Given the description of an element on the screen output the (x, y) to click on. 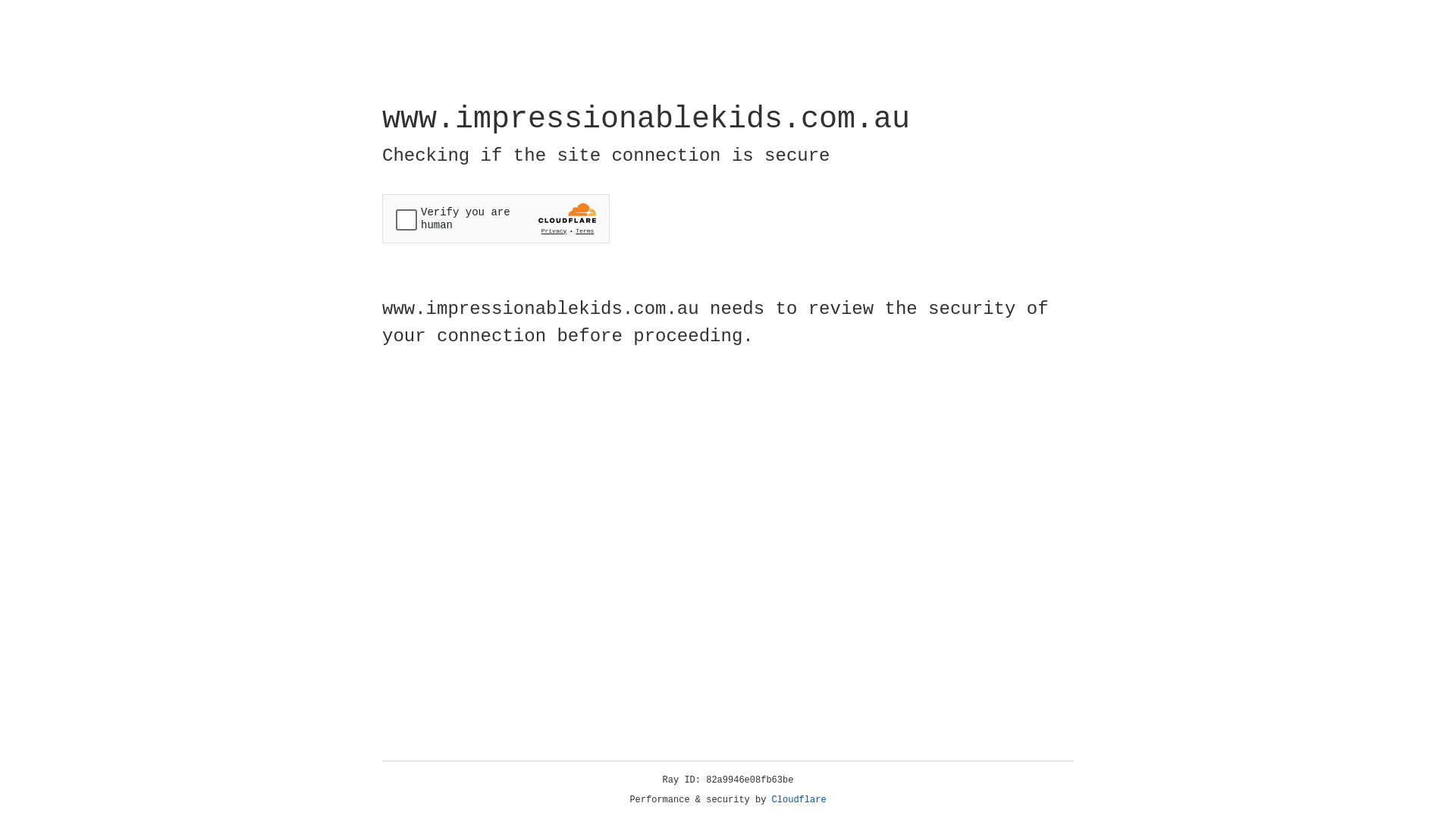
Widget containing a Cloudflare security challenge Element type: hover (495, 218)
Cloudflare Element type: text (798, 799)
